Given the description of an element on the screen output the (x, y) to click on. 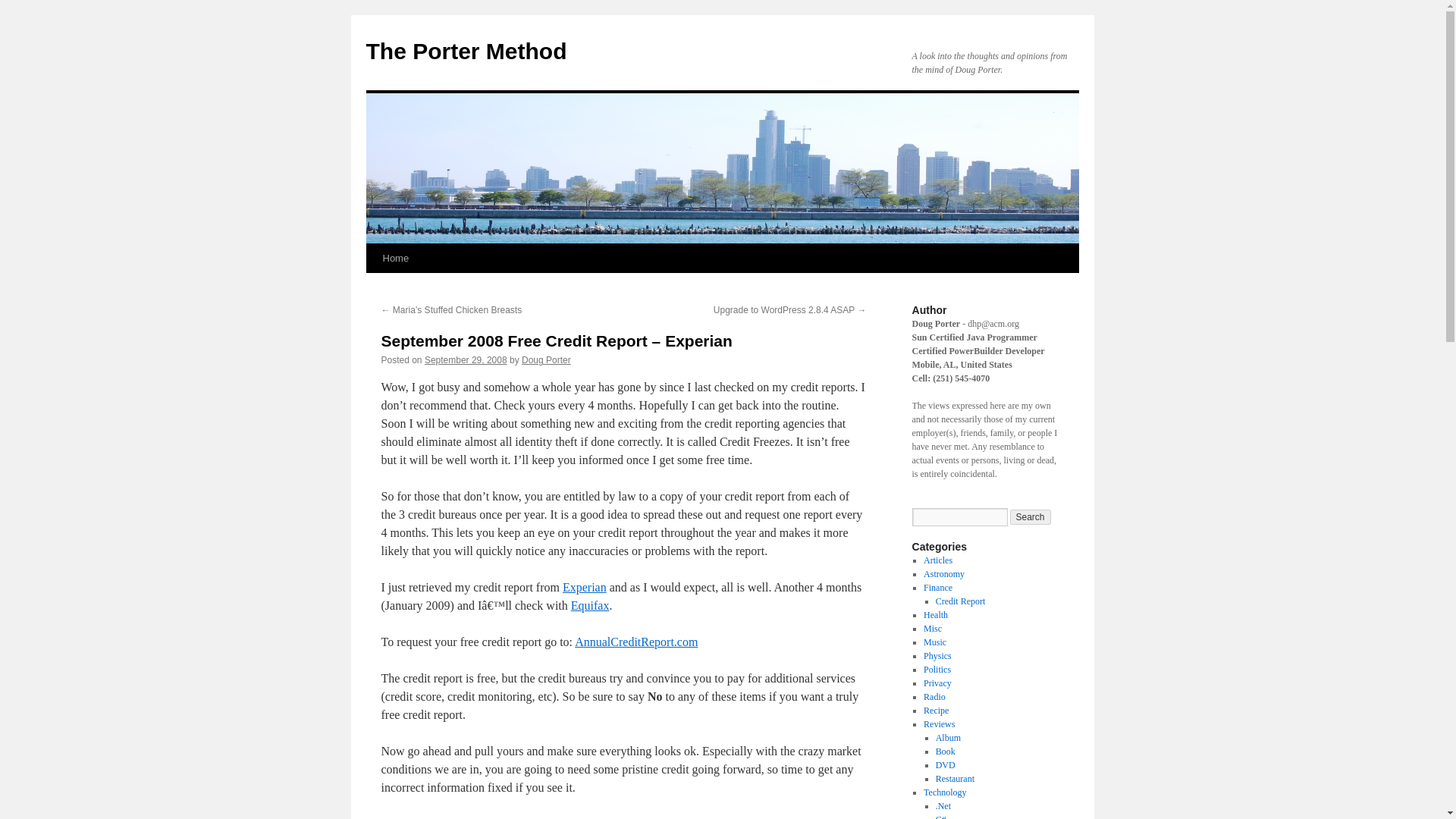
Search (1030, 516)
Music (934, 642)
Astronomy (943, 573)
Radio (933, 696)
Book (945, 751)
Health (935, 614)
Reviews (939, 724)
Skip to content (372, 286)
Physics (937, 655)
DVD (945, 765)
Credit Report (960, 601)
Restaurant (955, 778)
The Porter Method (465, 50)
Skip to content (372, 286)
10:49 pm (465, 359)
